Given the description of an element on the screen output the (x, y) to click on. 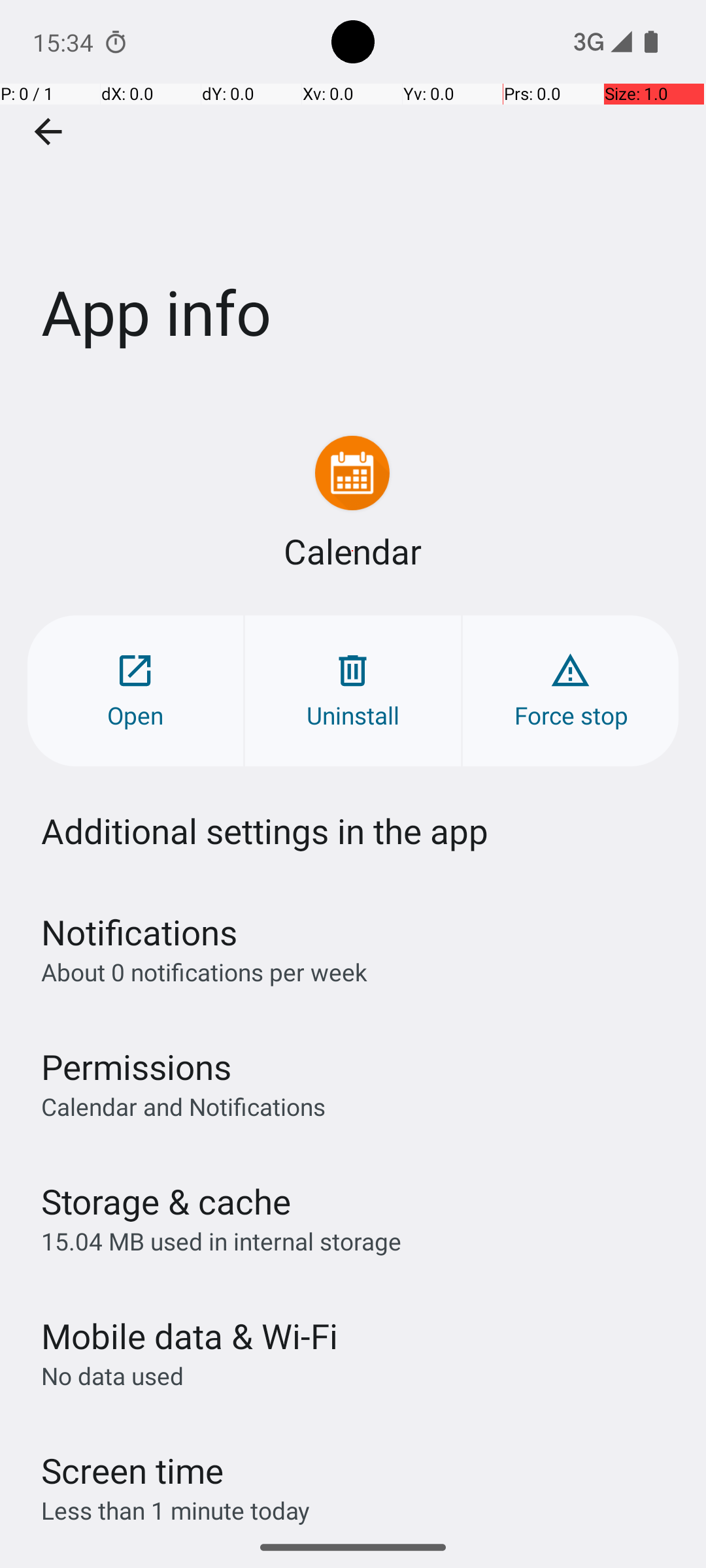
Calendar and Notifications Element type: android.widget.TextView (183, 1106)
15.04 MB used in internal storage Element type: android.widget.TextView (221, 1240)
Less than 1 minute today Element type: android.widget.TextView (175, 1509)
